Given the description of an element on the screen output the (x, y) to click on. 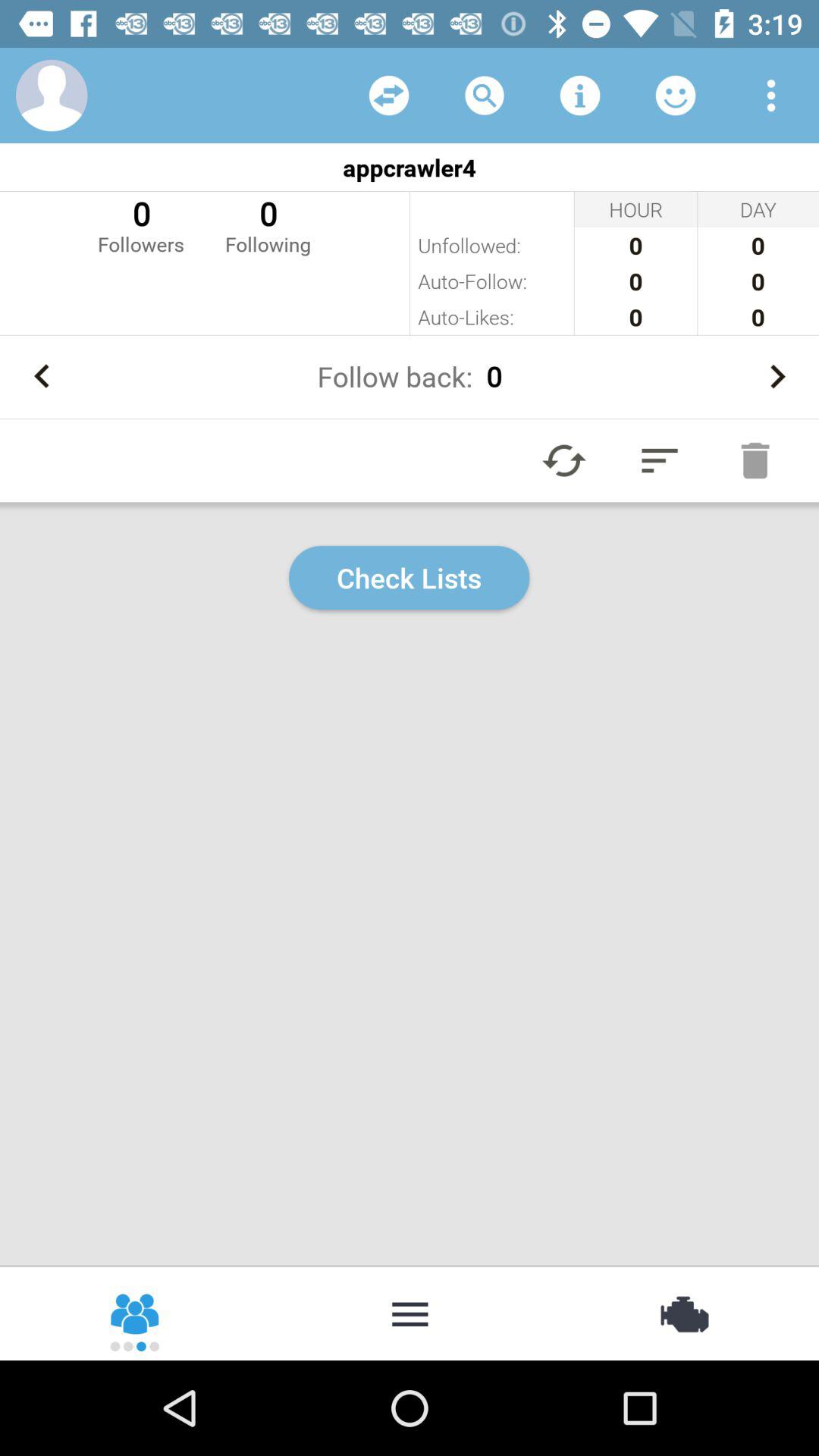
tap the check lists icon (408, 577)
